Given the description of an element on the screen output the (x, y) to click on. 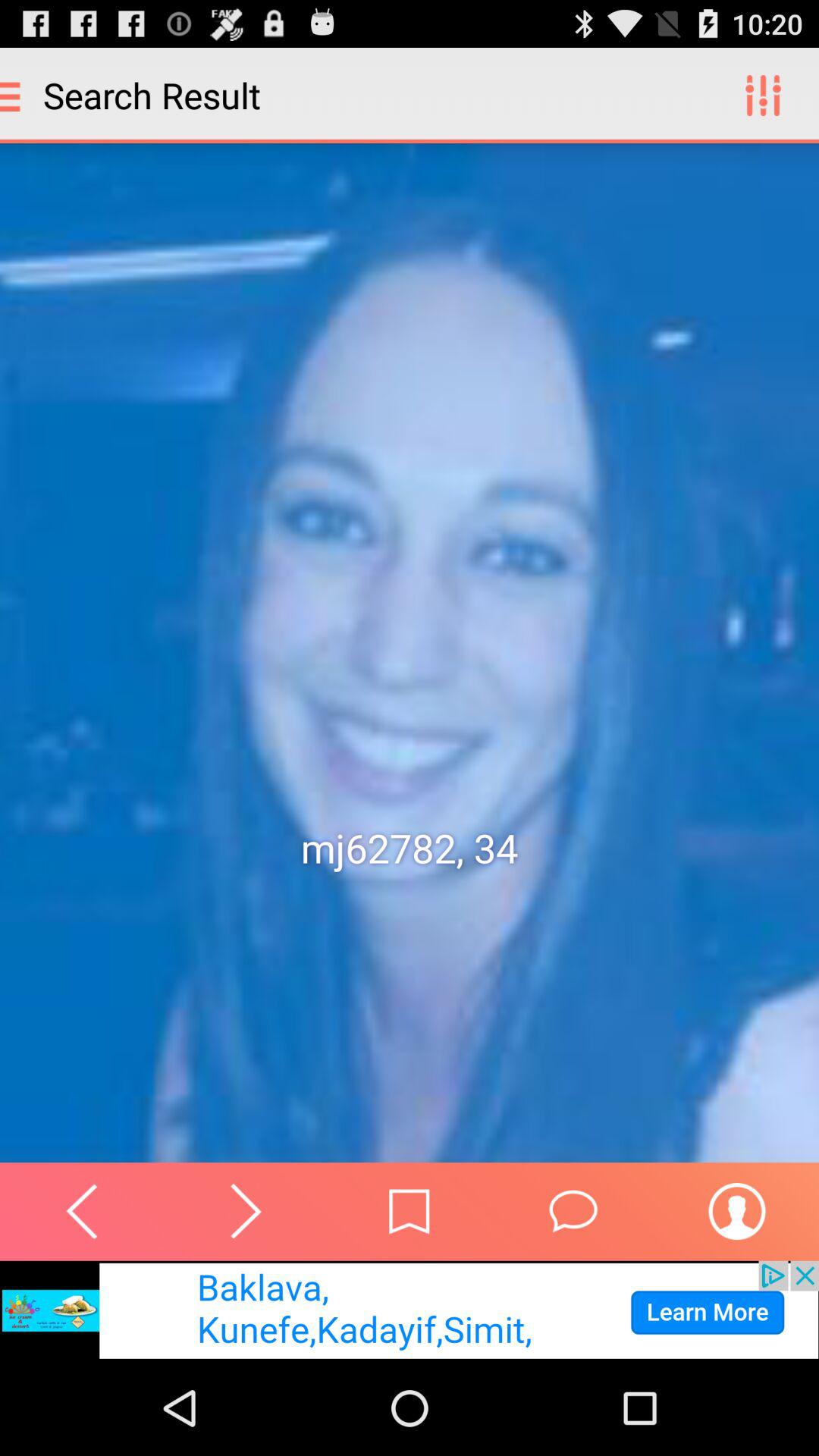
visit advertiser (409, 1310)
